Given the description of an element on the screen output the (x, y) to click on. 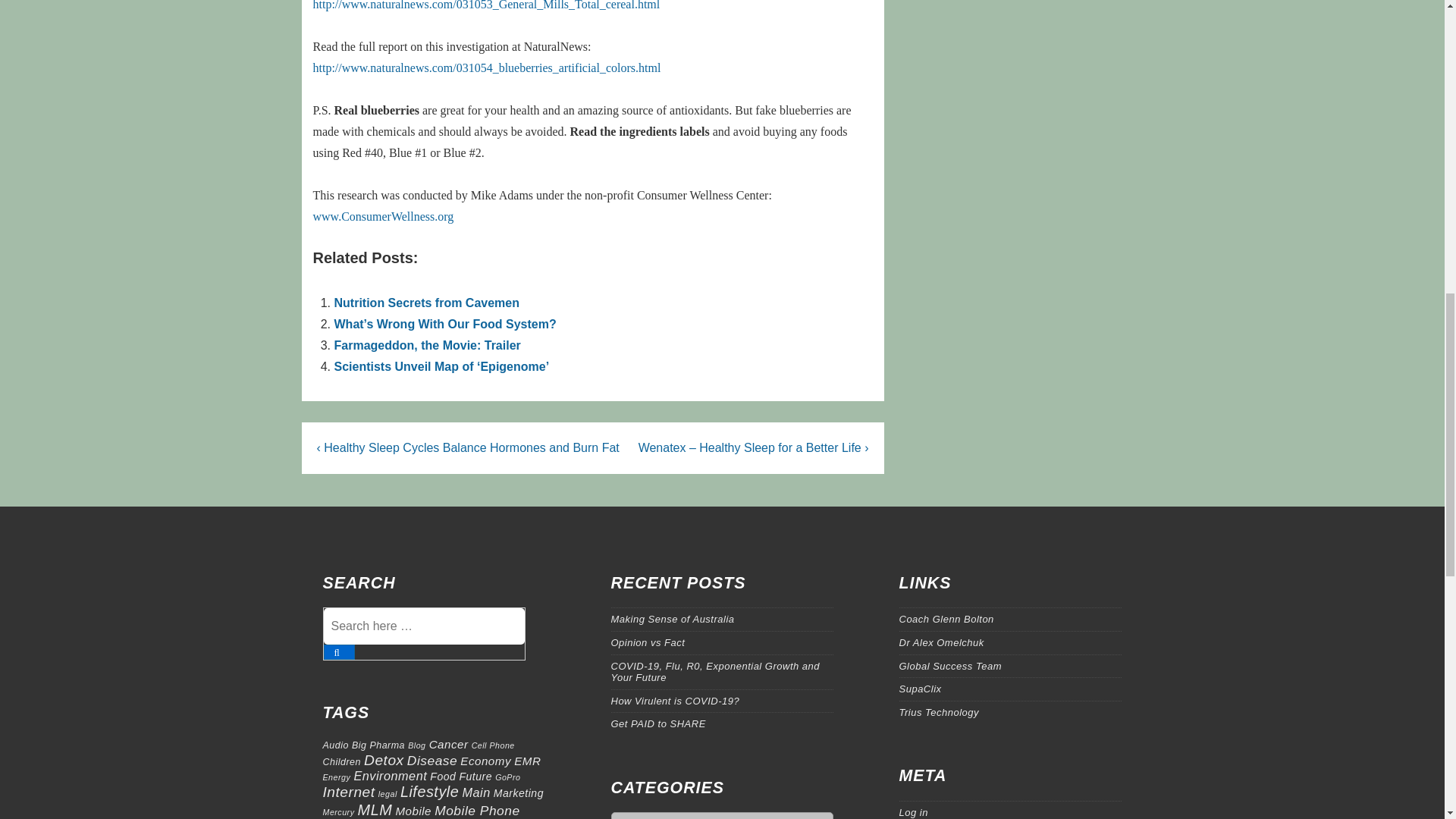
Dr Alex Omelchuk  (941, 642)
Farmageddon, the Movie: Trailer (426, 345)
Nutrition Secrets from Cavemen (426, 302)
www.ConsumerWellness.org (382, 215)
Global Success Team (950, 665)
Coach Glenn Bolton (946, 618)
Farmageddon, the Movie: Trailer (426, 345)
Nutrition Secrets from Cavemen (426, 302)
